Given the description of an element on the screen output the (x, y) to click on. 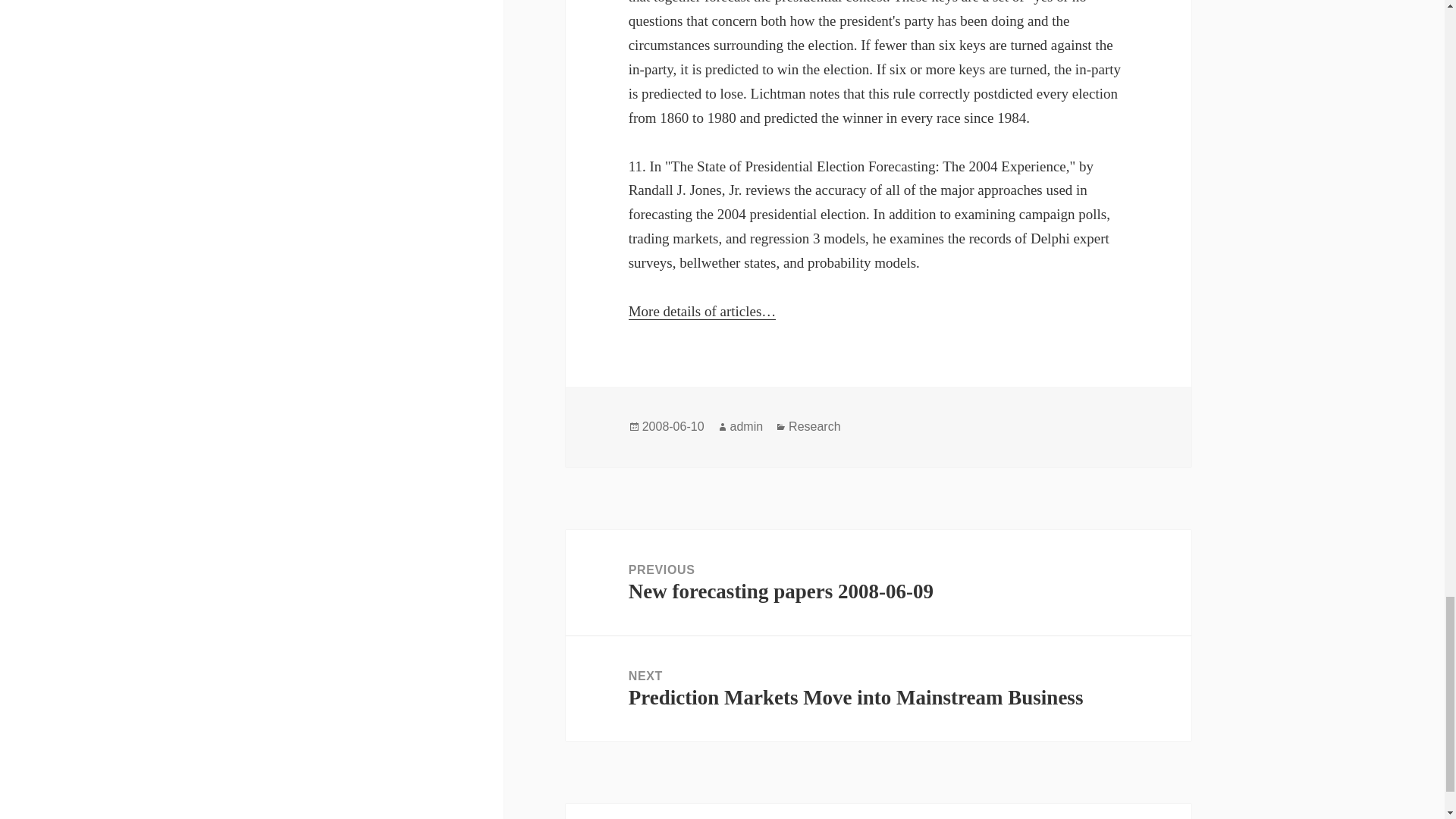
Research (814, 427)
admin (746, 427)
2008-06-10 (673, 427)
